Given the description of an element on the screen output the (x, y) to click on. 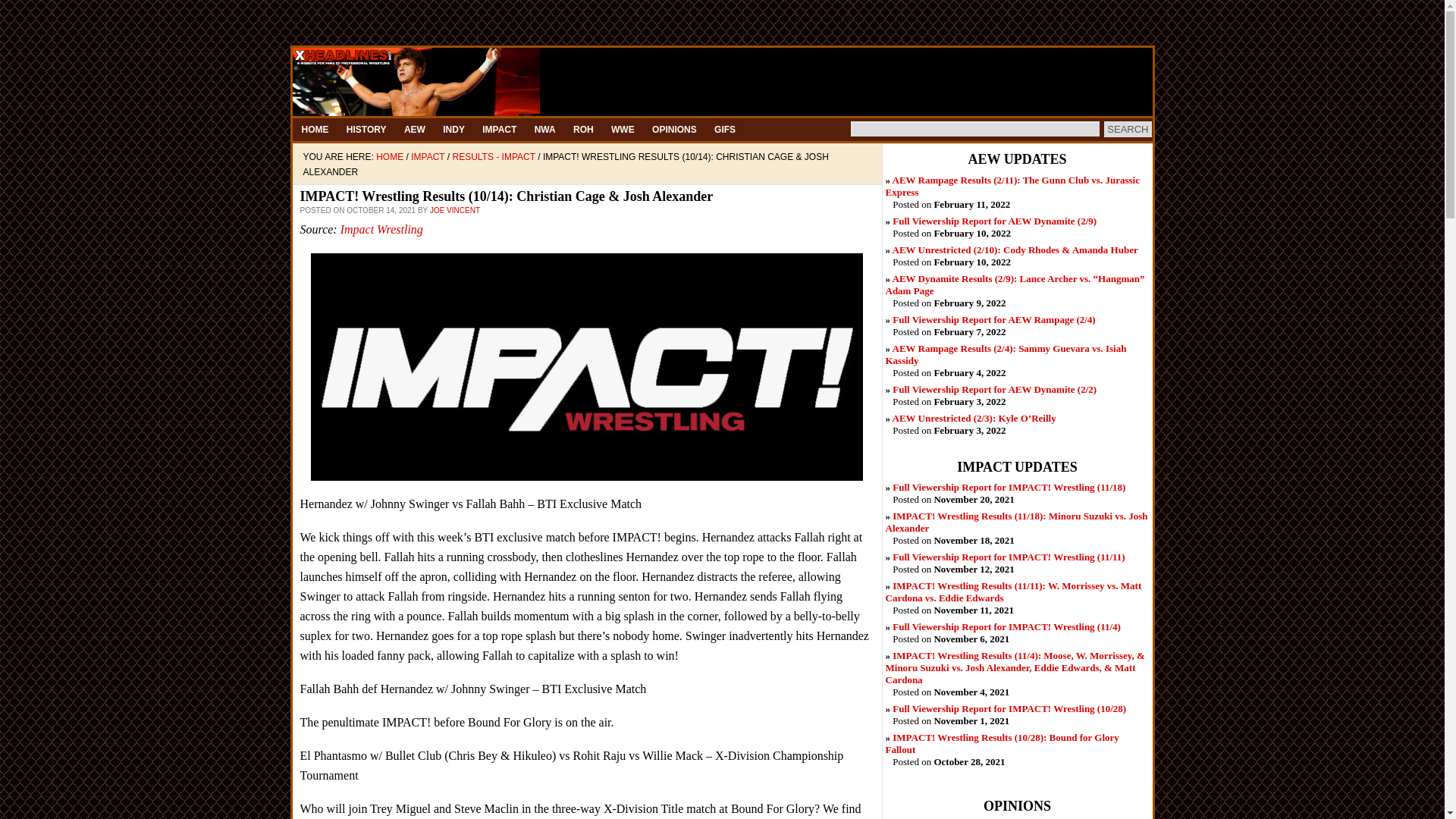
Search (1127, 129)
February 11, 2022 (1012, 186)
XHEADLINES.COM (722, 81)
WWE (622, 128)
Search (1127, 129)
ROH (583, 128)
AEW (413, 128)
GIFS (724, 128)
February 10, 2022 (994, 220)
February 4, 2022 (1005, 354)
February 7, 2022 (993, 319)
INDY (453, 128)
IMPACT (499, 128)
HISTORY (366, 128)
